Given the description of an element on the screen output the (x, y) to click on. 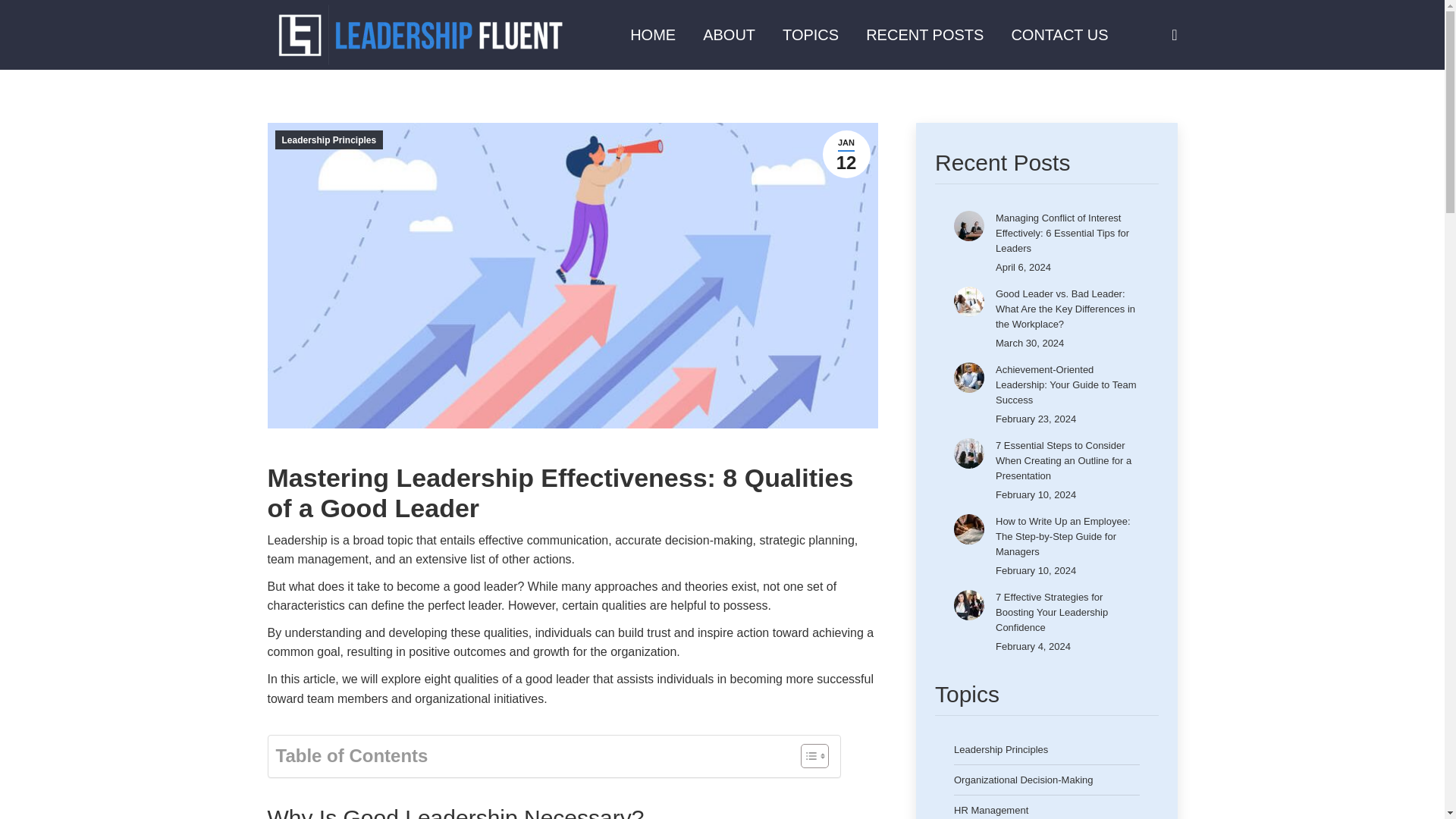
RECENT POSTS (925, 34)
6:58 pm (845, 154)
ABOUT (729, 34)
Leadership Principles (328, 139)
HOME (652, 34)
TOPICS (809, 34)
CONTACT US (1058, 34)
Go! (845, 154)
